Given the description of an element on the screen output the (x, y) to click on. 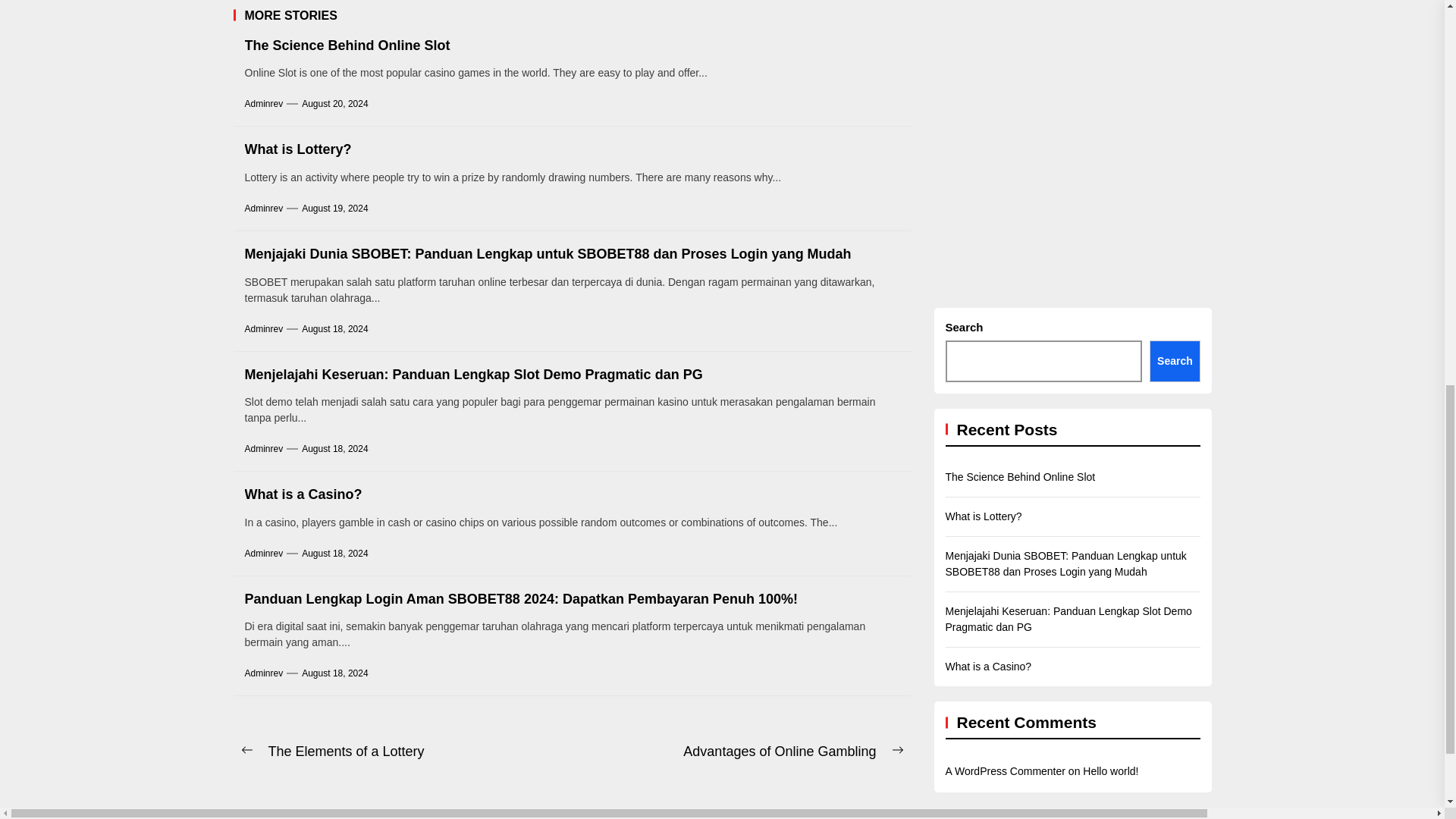
February 2023 (1439, 17)
December 2022 (1439, 95)
October 2022 (1439, 174)
January 2023 (1439, 56)
July 2022 (1439, 213)
November 2022 (1439, 135)
